Given the description of an element on the screen output the (x, y) to click on. 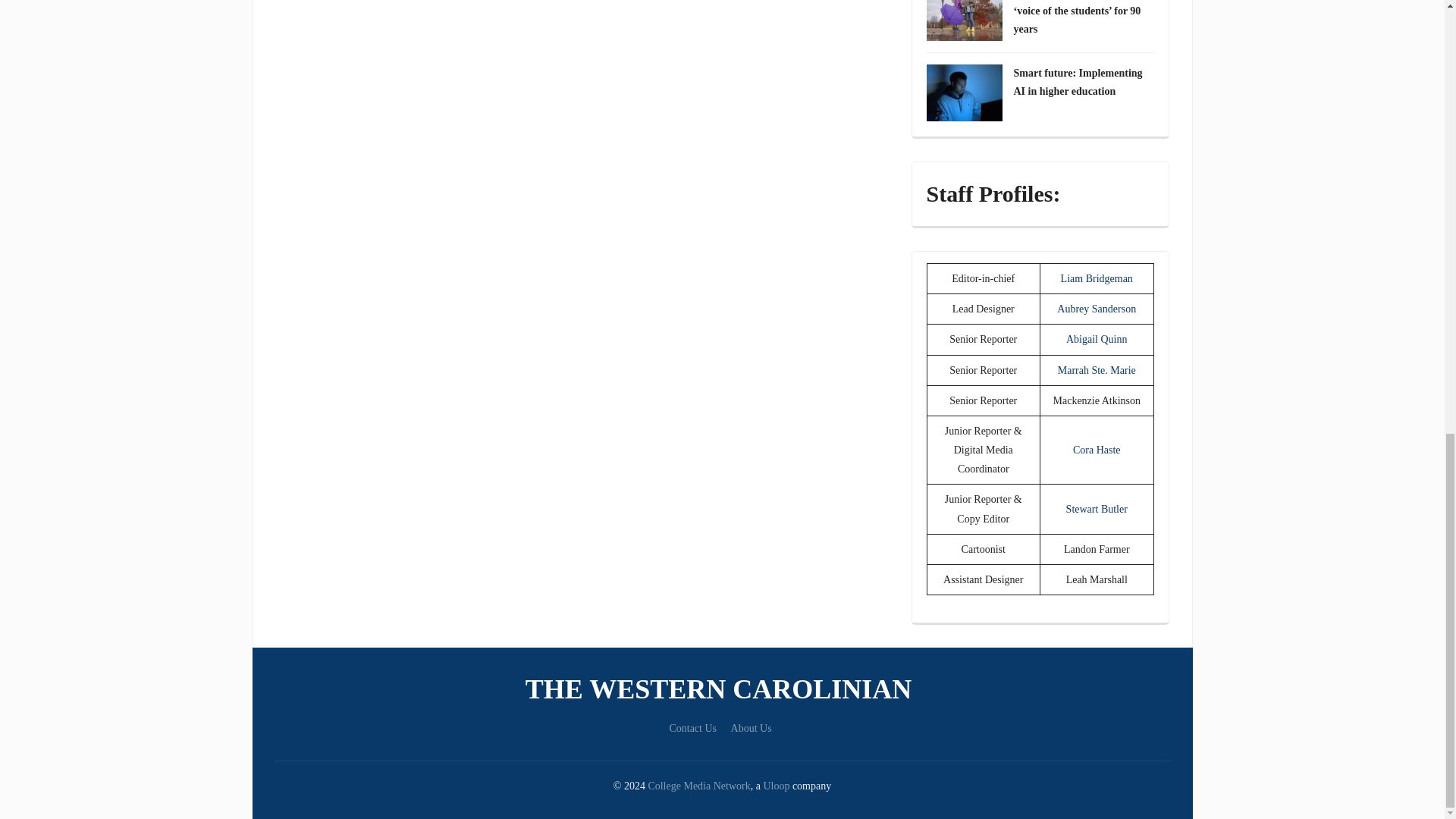
Western Carolina University's source for student-led news. (721, 688)
